Given the description of an element on the screen output the (x, y) to click on. 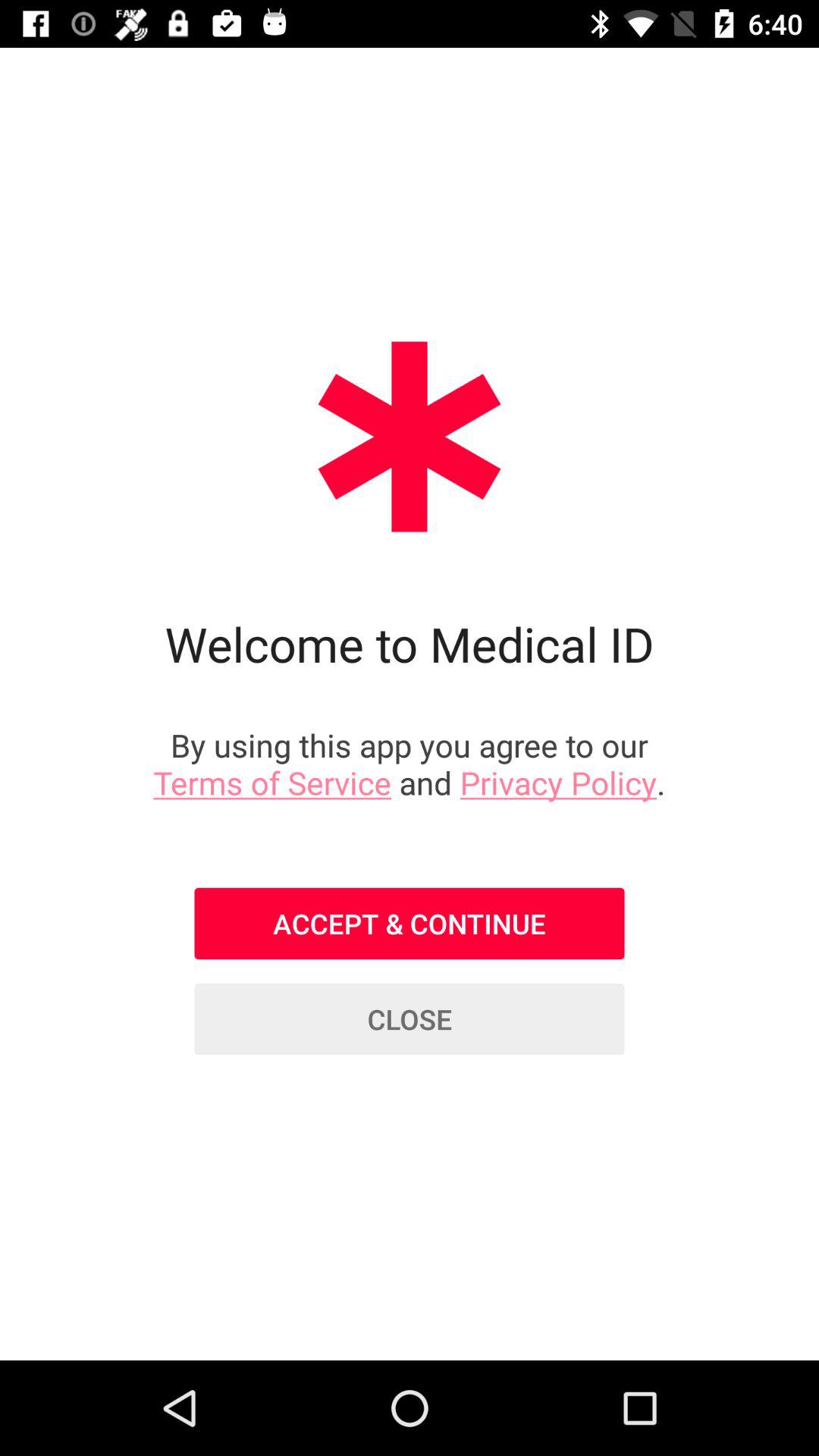
tap by using this item (409, 763)
